Given the description of an element on the screen output the (x, y) to click on. 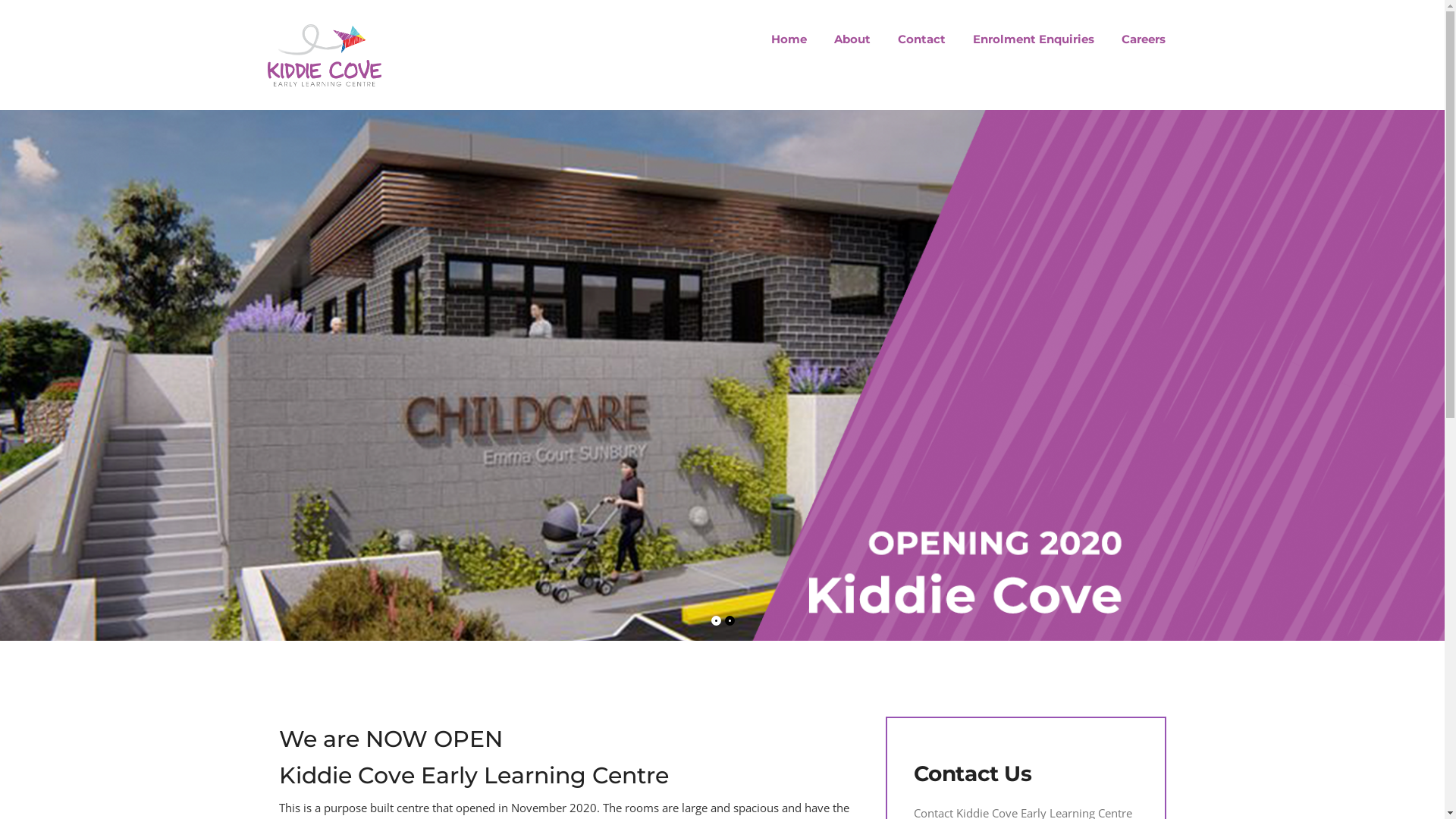
Home Element type: text (788, 39)
Careers Element type: text (1136, 39)
Enrolment Enquiries Element type: text (1033, 39)
Contact Element type: text (921, 39)
About Element type: text (852, 39)
